Given the description of an element on the screen output the (x, y) to click on. 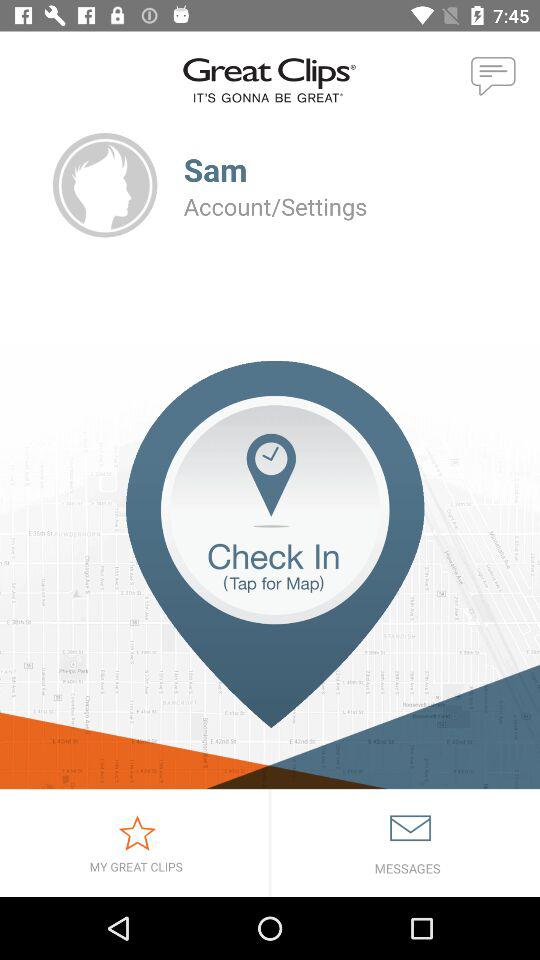
messages (405, 843)
